Given the description of an element on the screen output the (x, y) to click on. 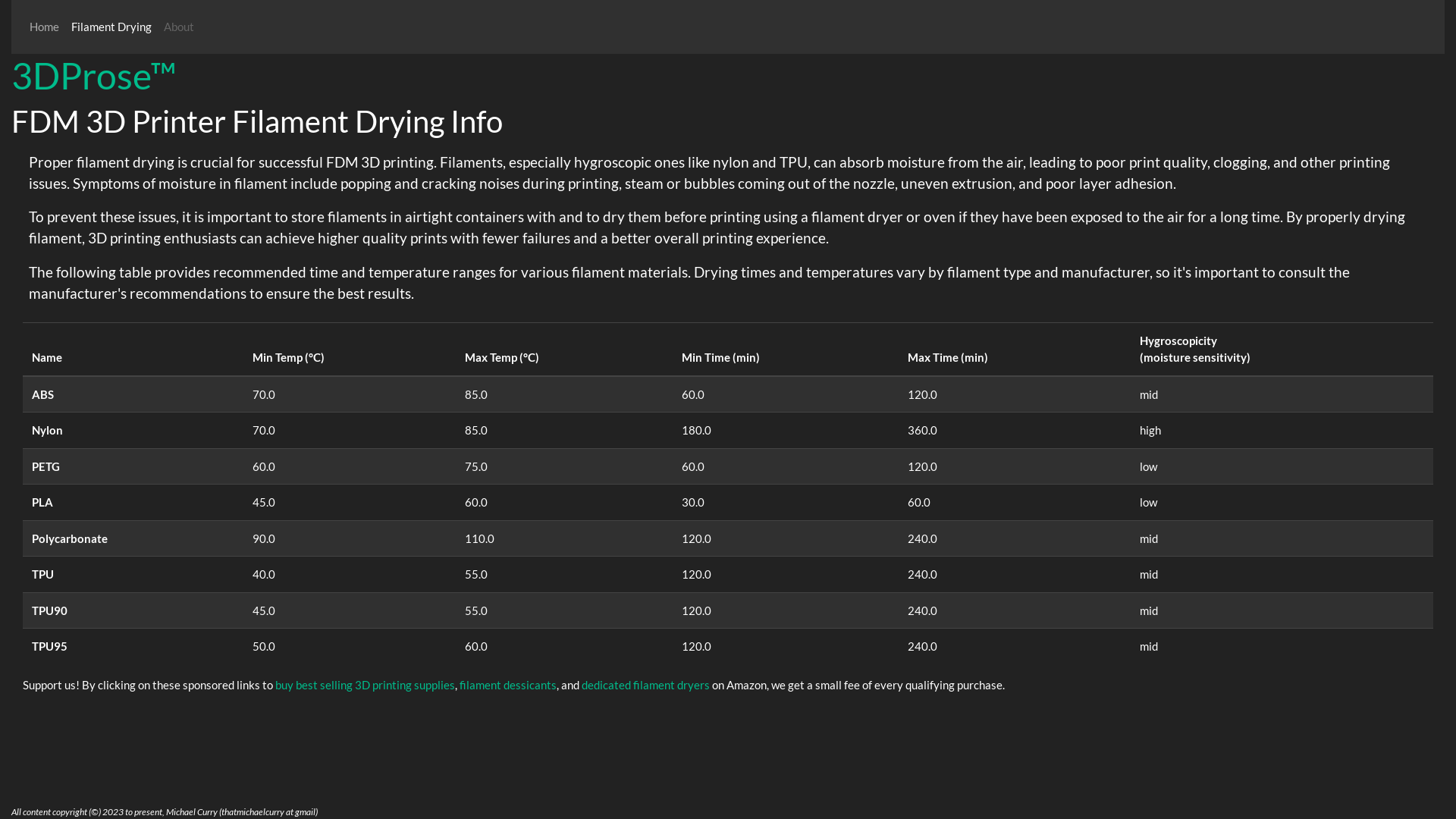
Home
(current) Element type: text (44, 26)
Filament Drying Element type: text (111, 26)
filament dessicants Element type: text (507, 684)
About Element type: text (178, 26)
buy best selling 3D printing supplies Element type: text (365, 684)
dedicated filament dryers Element type: text (645, 684)
